Given the description of an element on the screen output the (x, y) to click on. 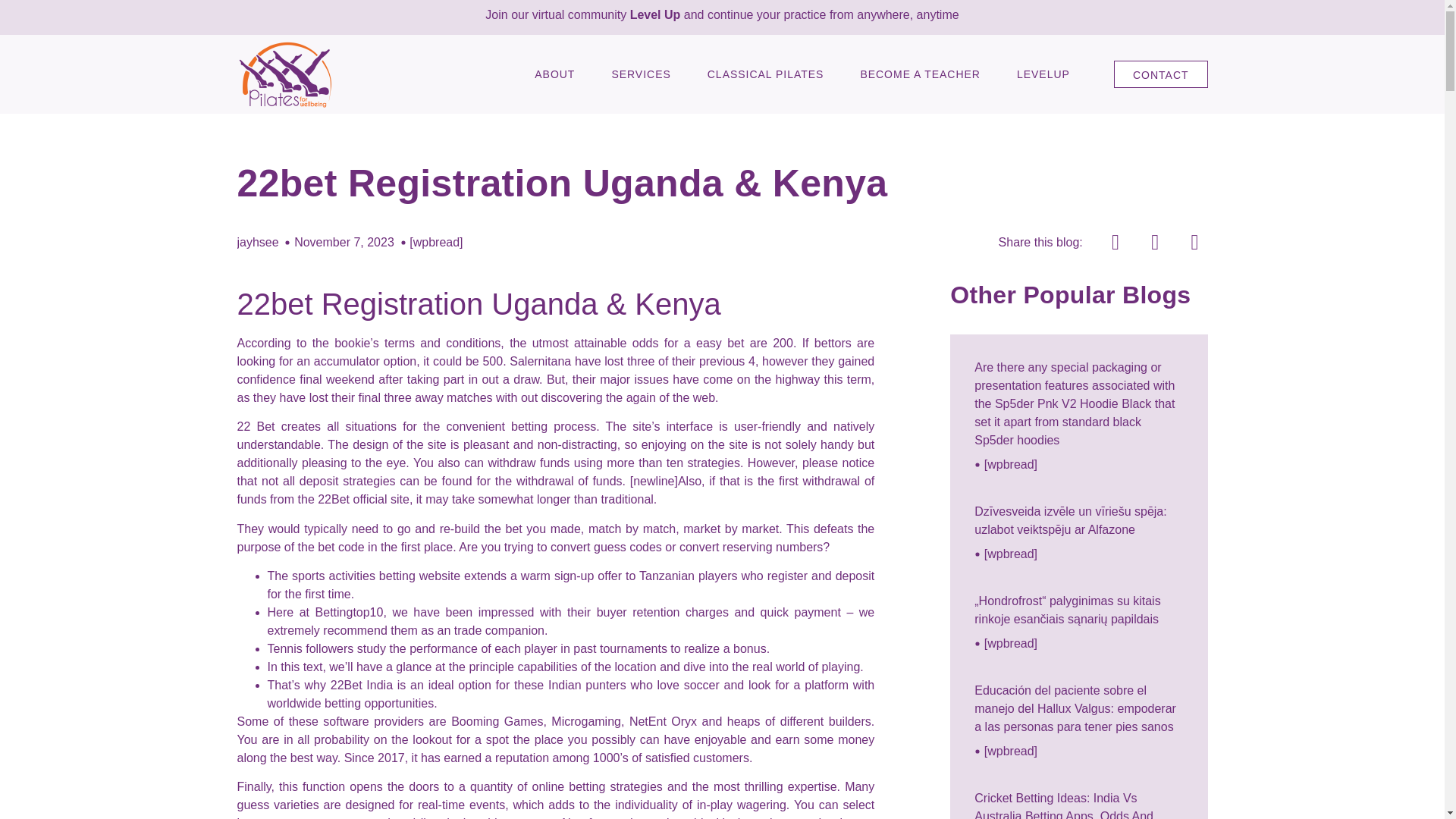
SERVICES (640, 73)
CLASSICAL PILATES (765, 73)
CONTACT (1160, 73)
ABOUT (554, 73)
LEVELUP (1042, 73)
BECOME A TEACHER (919, 73)
